Given the description of an element on the screen output the (x, y) to click on. 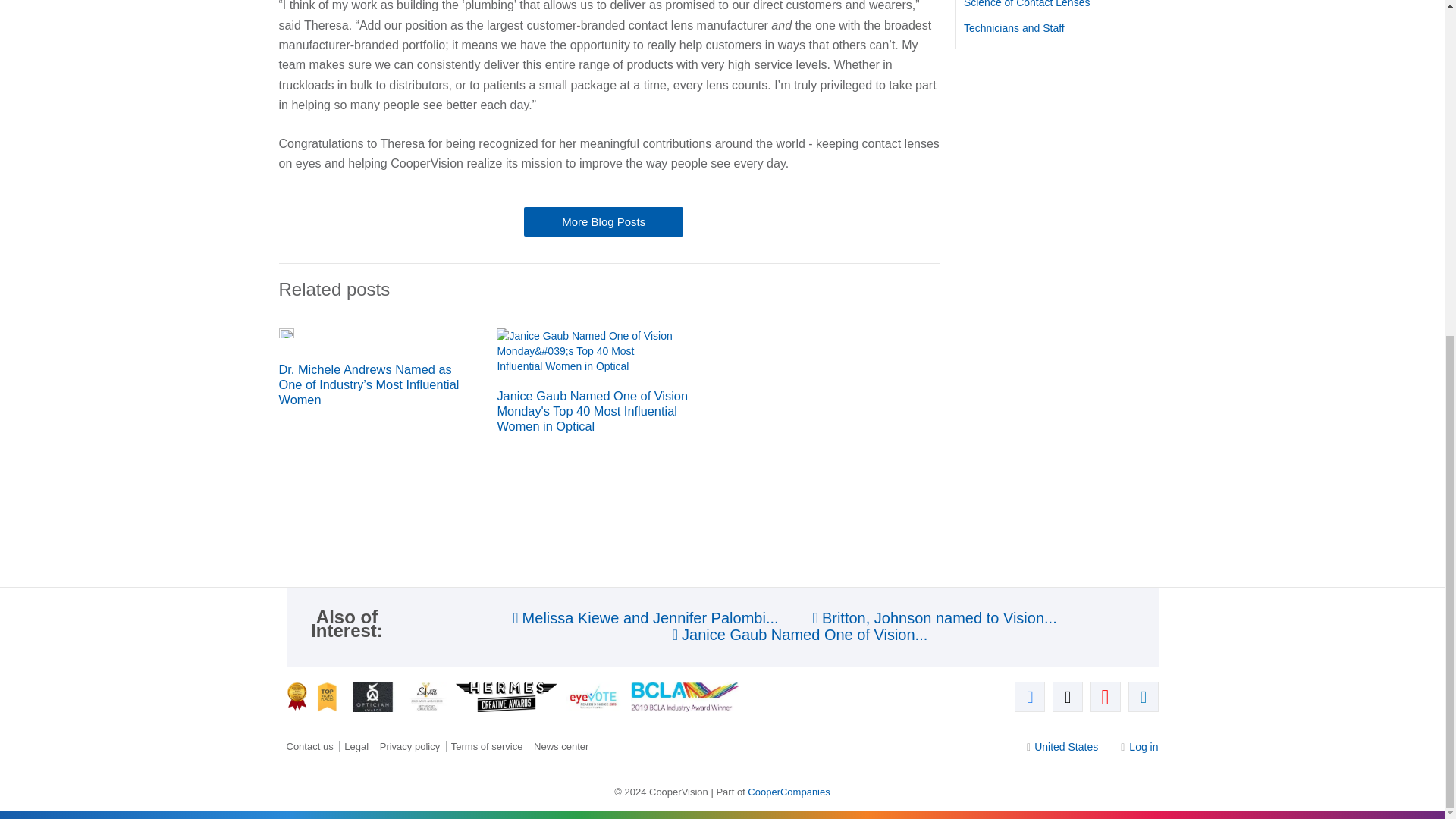
Youtube (1105, 696)
Linkedin (1143, 696)
Facebook (1029, 696)
X (1067, 696)
